Given the description of an element on the screen output the (x, y) to click on. 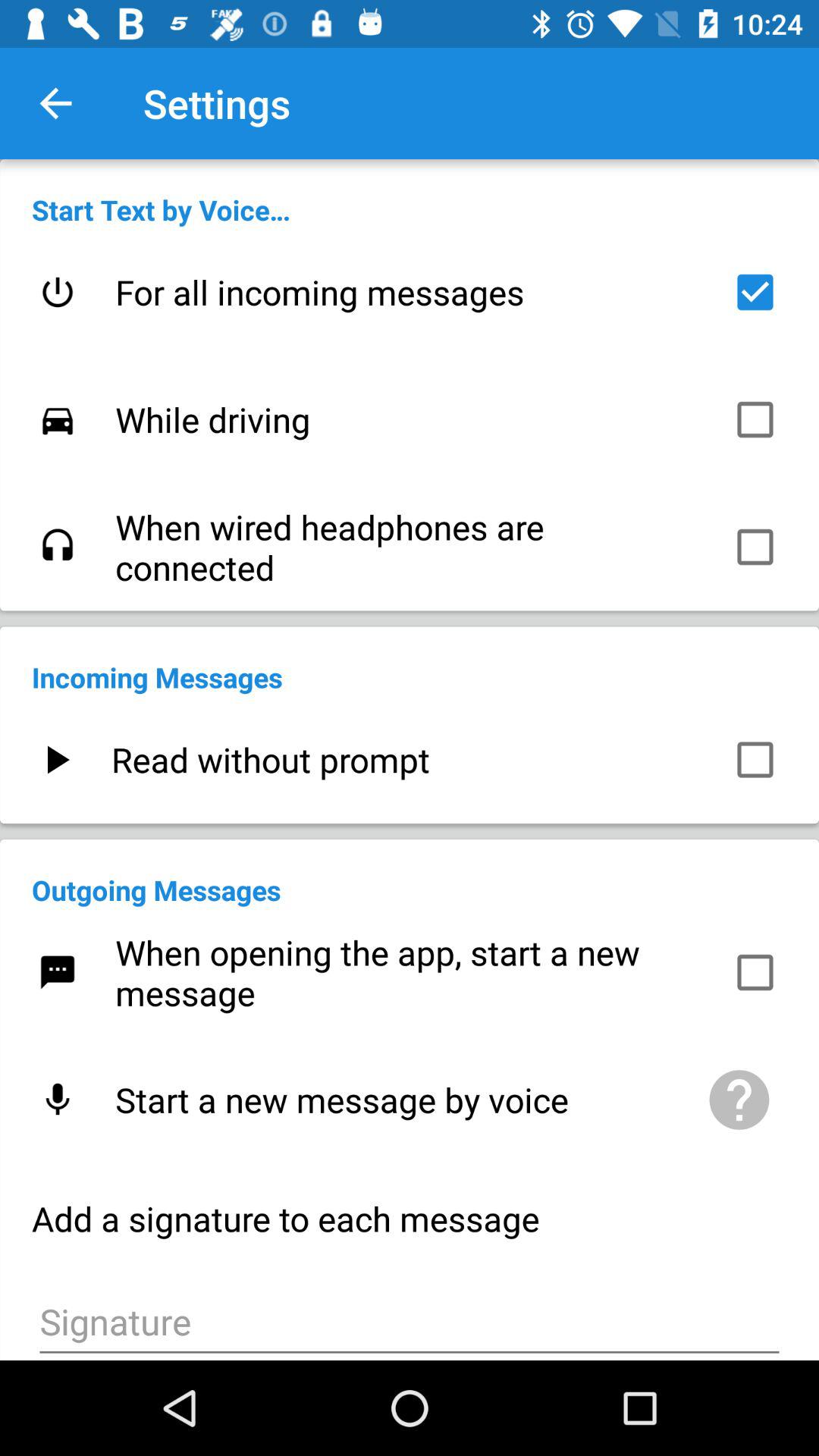
select the item next to the settings icon (55, 103)
